Given the description of an element on the screen output the (x, y) to click on. 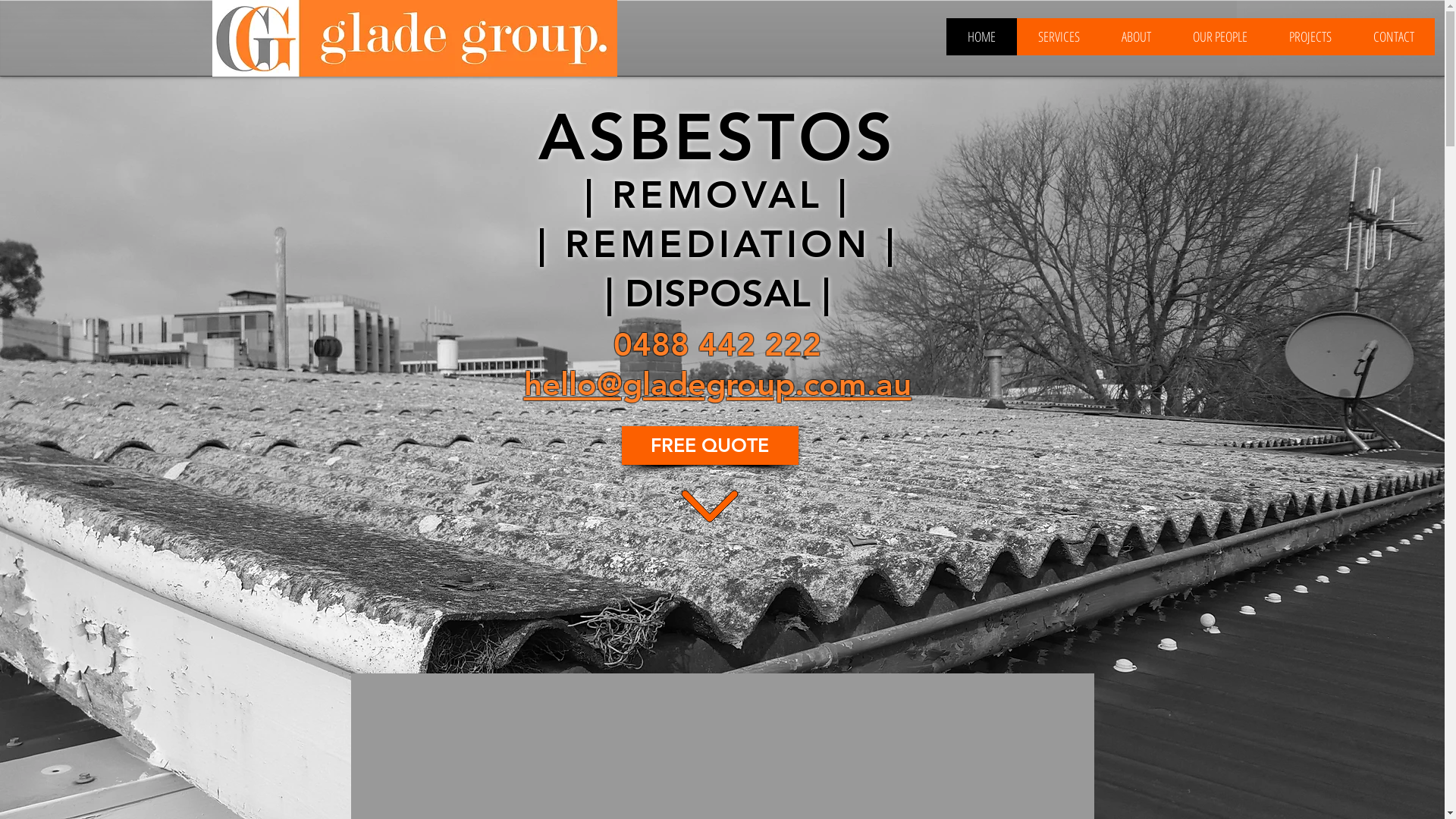
hello@gladegroup.com.au Element type: text (716, 383)
PROJECTS Element type: text (1309, 36)
OUR PEOPLE Element type: text (1219, 36)
FREE QUOTE Element type: text (709, 445)
ABOUT Element type: text (1135, 36)
GG.jpg Element type: hover (414, 38)
CONTACT Element type: text (1393, 36)
HOME Element type: text (981, 36)
SERVICES Element type: text (1058, 36)
